Given the description of an element on the screen output the (x, y) to click on. 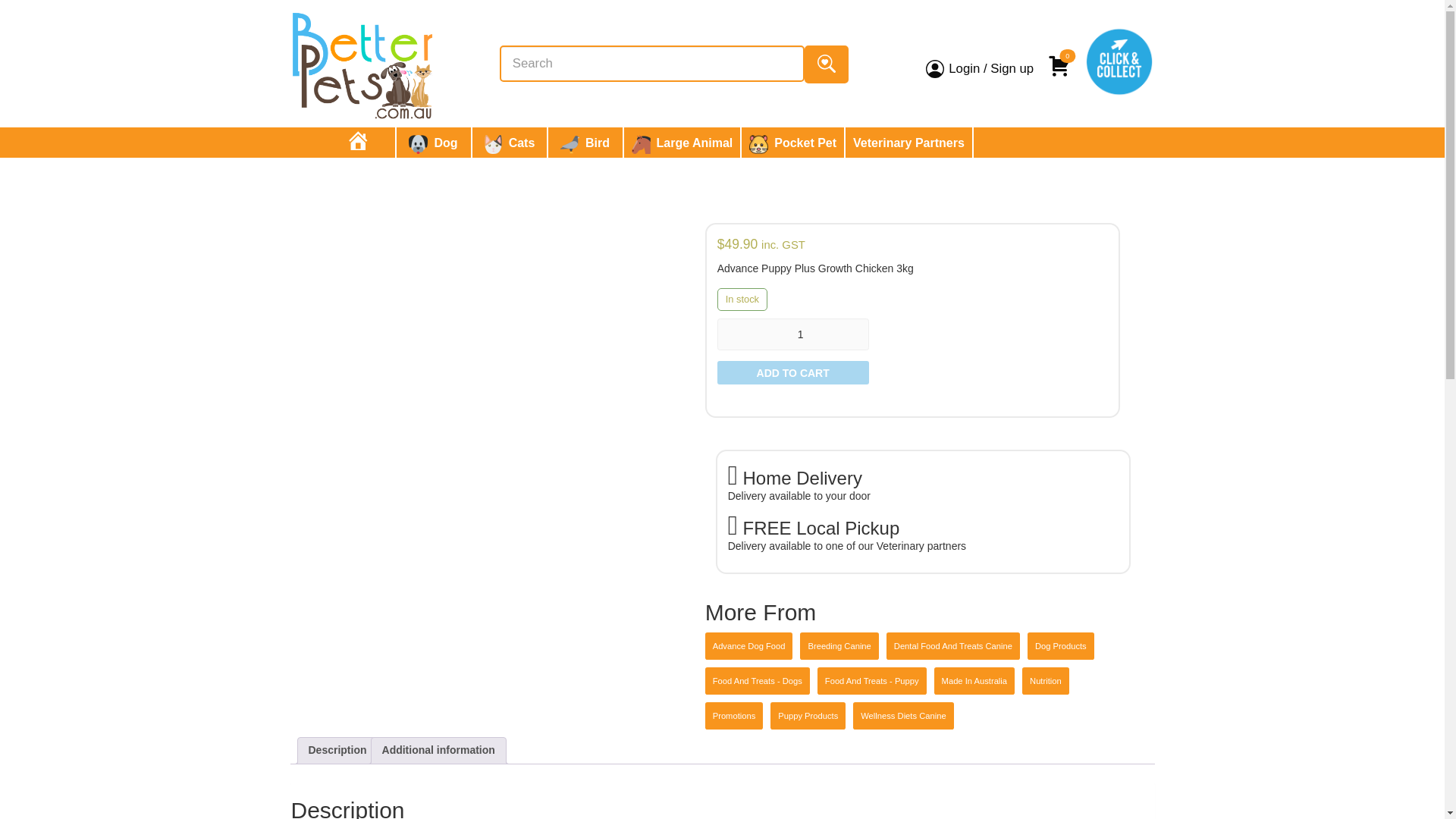
Qty (793, 334)
Home (357, 142)
View your shopping cart (1061, 59)
0 (1061, 59)
1 (793, 334)
Dog (433, 142)
